Given the description of an element on the screen output the (x, y) to click on. 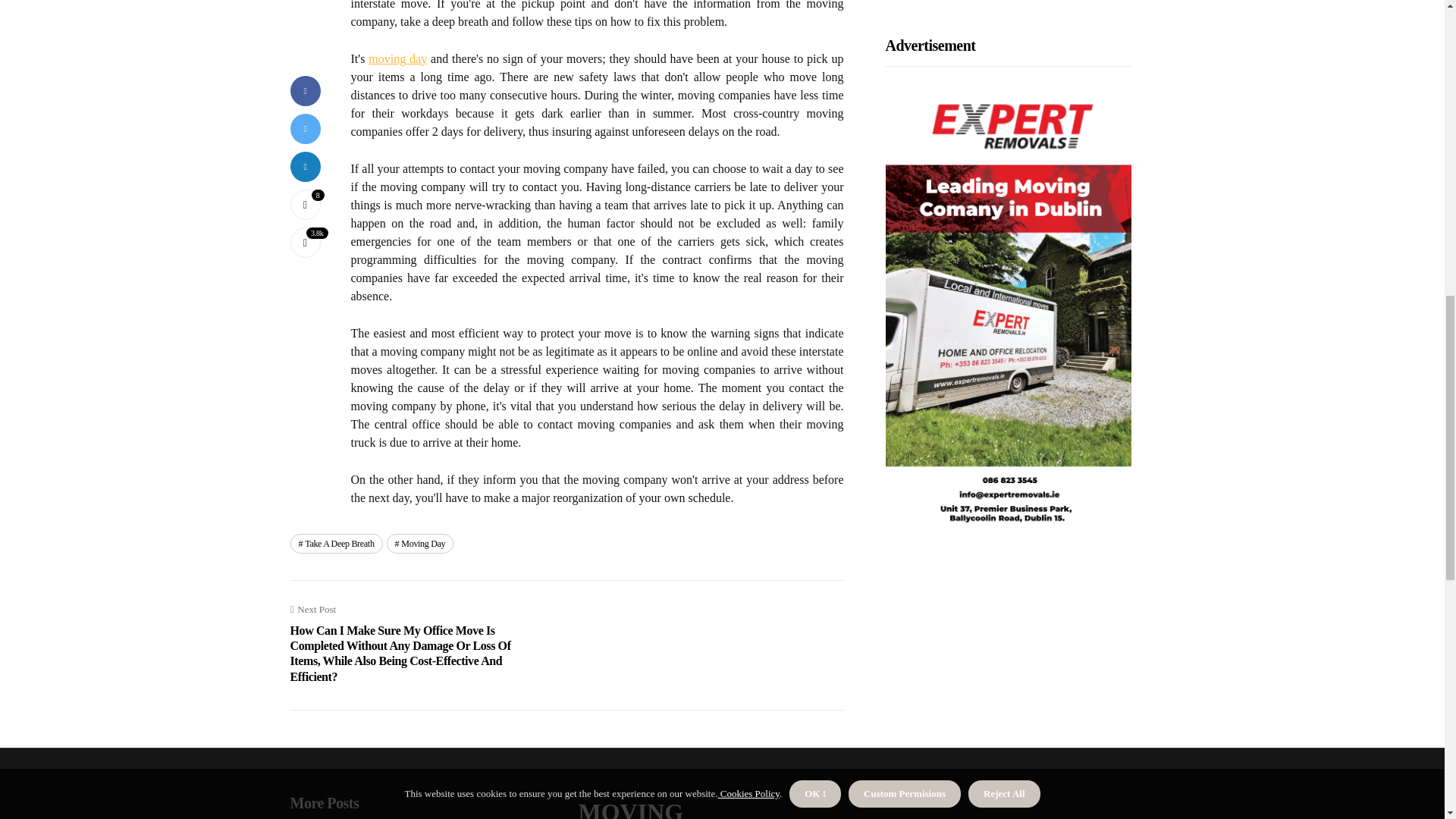
Moving Day (420, 543)
Take A Deep Breath (335, 543)
moving day (397, 58)
